Given the description of an element on the screen output the (x, y) to click on. 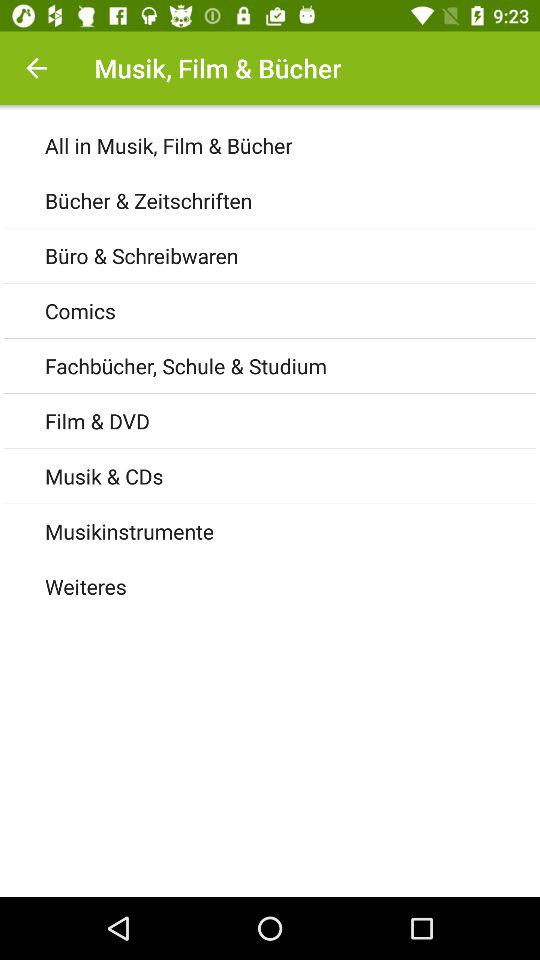
flip to film & dvd icon (292, 420)
